Given the description of an element on the screen output the (x, y) to click on. 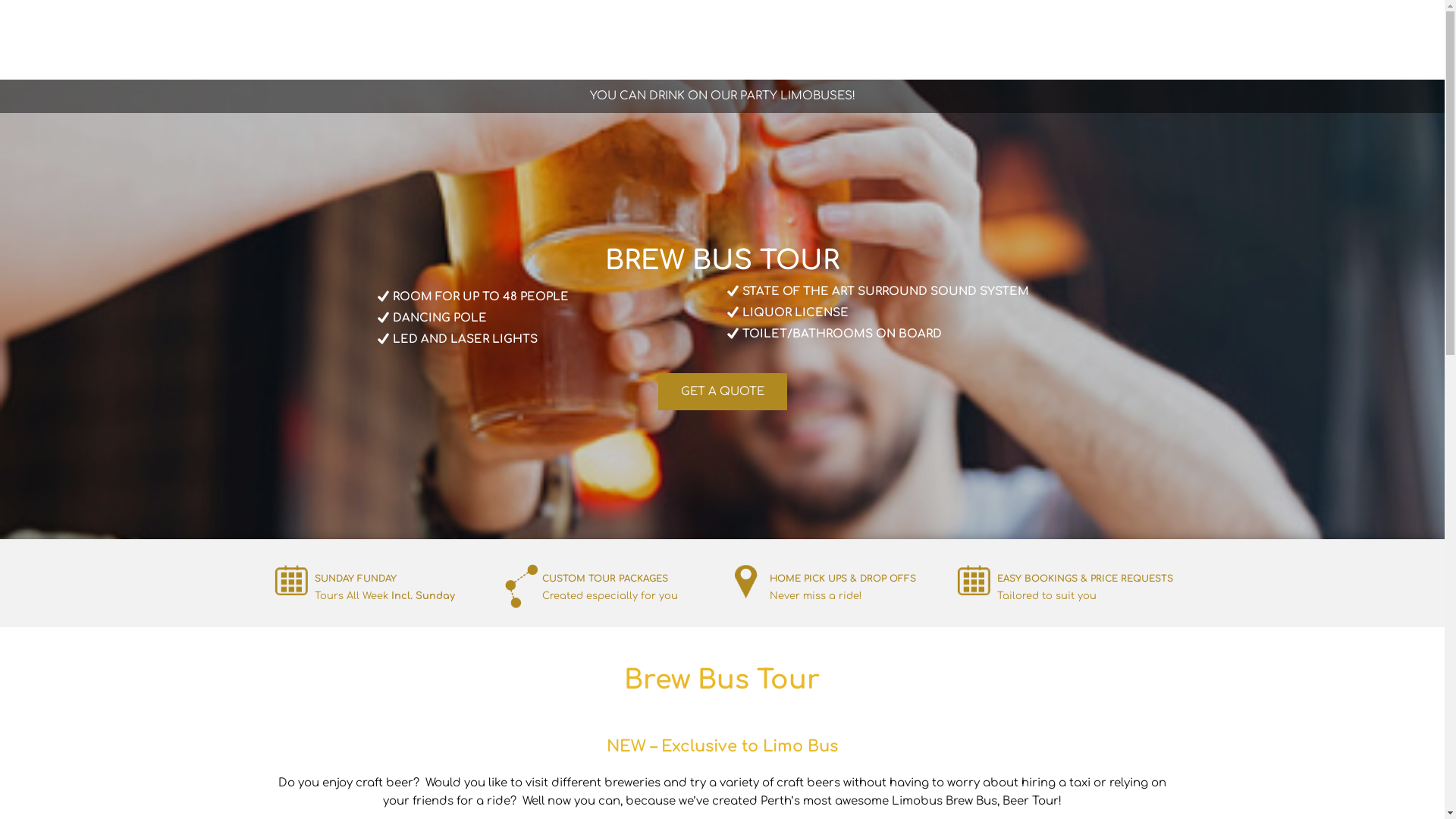
GET A QUOTE Element type: text (722, 391)
